Given the description of an element on the screen output the (x, y) to click on. 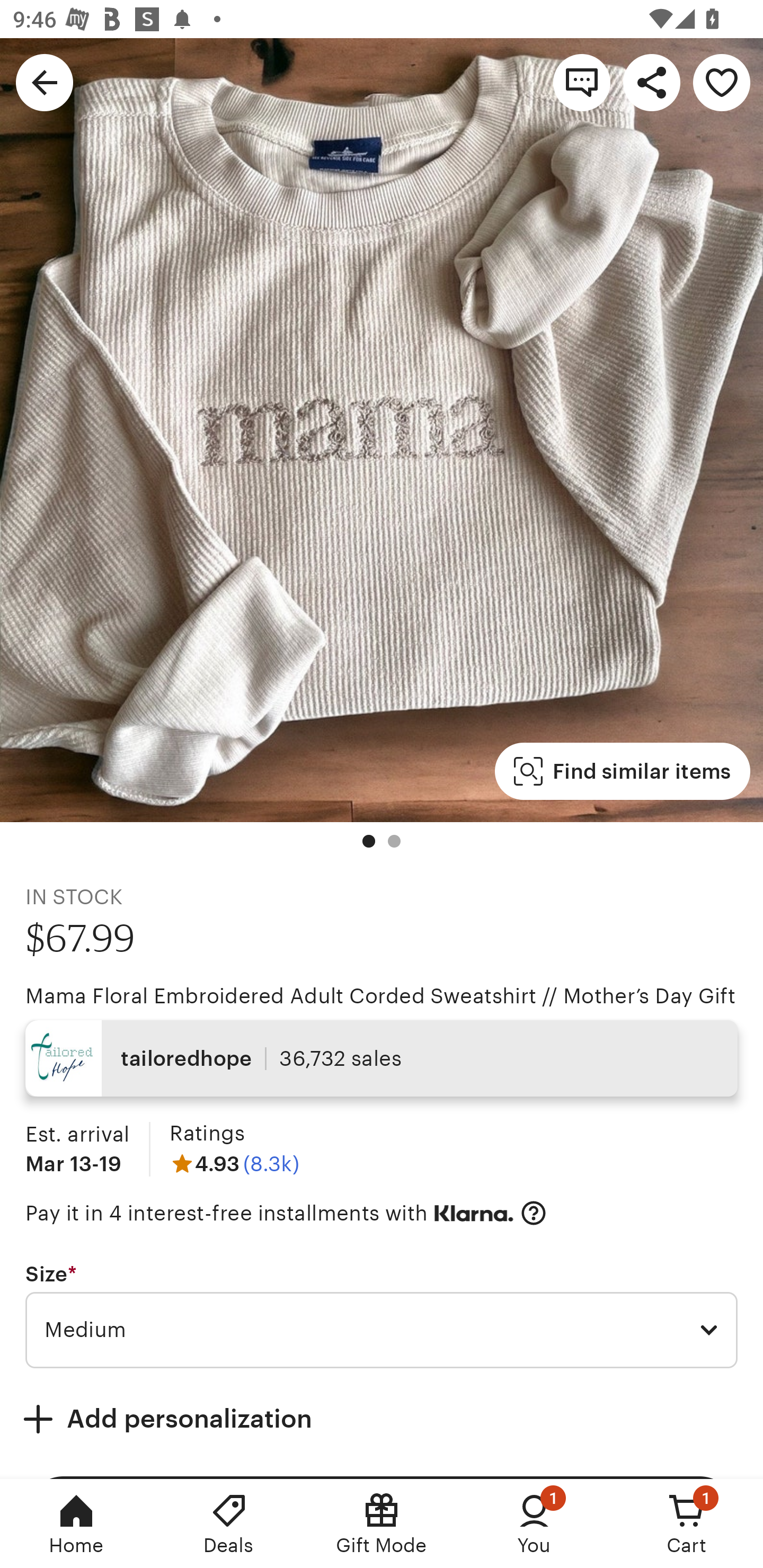
Navigate up (44, 81)
Contact shop (581, 81)
Share (651, 81)
Find similar items (622, 771)
tailoredhope 36,732 sales (381, 1058)
Ratings (206, 1133)
4.93 (8.3k) (234, 1163)
Size * Required Medium (381, 1315)
Medium (381, 1330)
Add personalization Add personalization Required (381, 1418)
Deals (228, 1523)
Gift Mode (381, 1523)
You, 1 new notification You (533, 1523)
Cart, 1 new notification Cart (686, 1523)
